Given the description of an element on the screen output the (x, y) to click on. 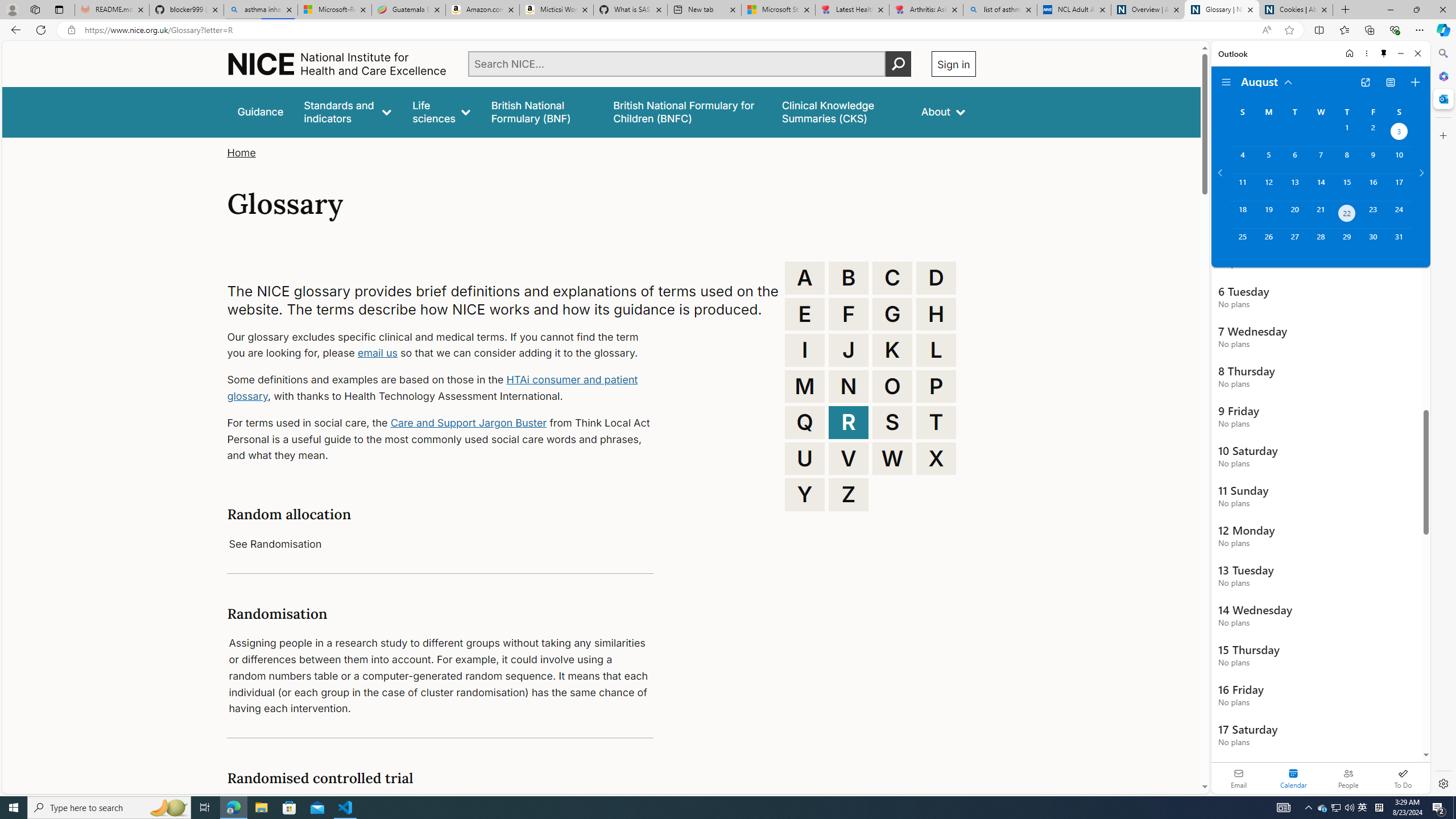
K (892, 350)
Wednesday, August 28, 2024.  (1320, 241)
New tab (703, 9)
Sunday, August 25, 2024.  (1242, 241)
Thursday, August 8, 2024.  (1346, 159)
B (848, 277)
Open in new tab (1365, 82)
Care and Support Jargon Buster (468, 422)
Saturday, August 10, 2024.  (1399, 159)
P (935, 385)
